Given the description of an element on the screen output the (x, y) to click on. 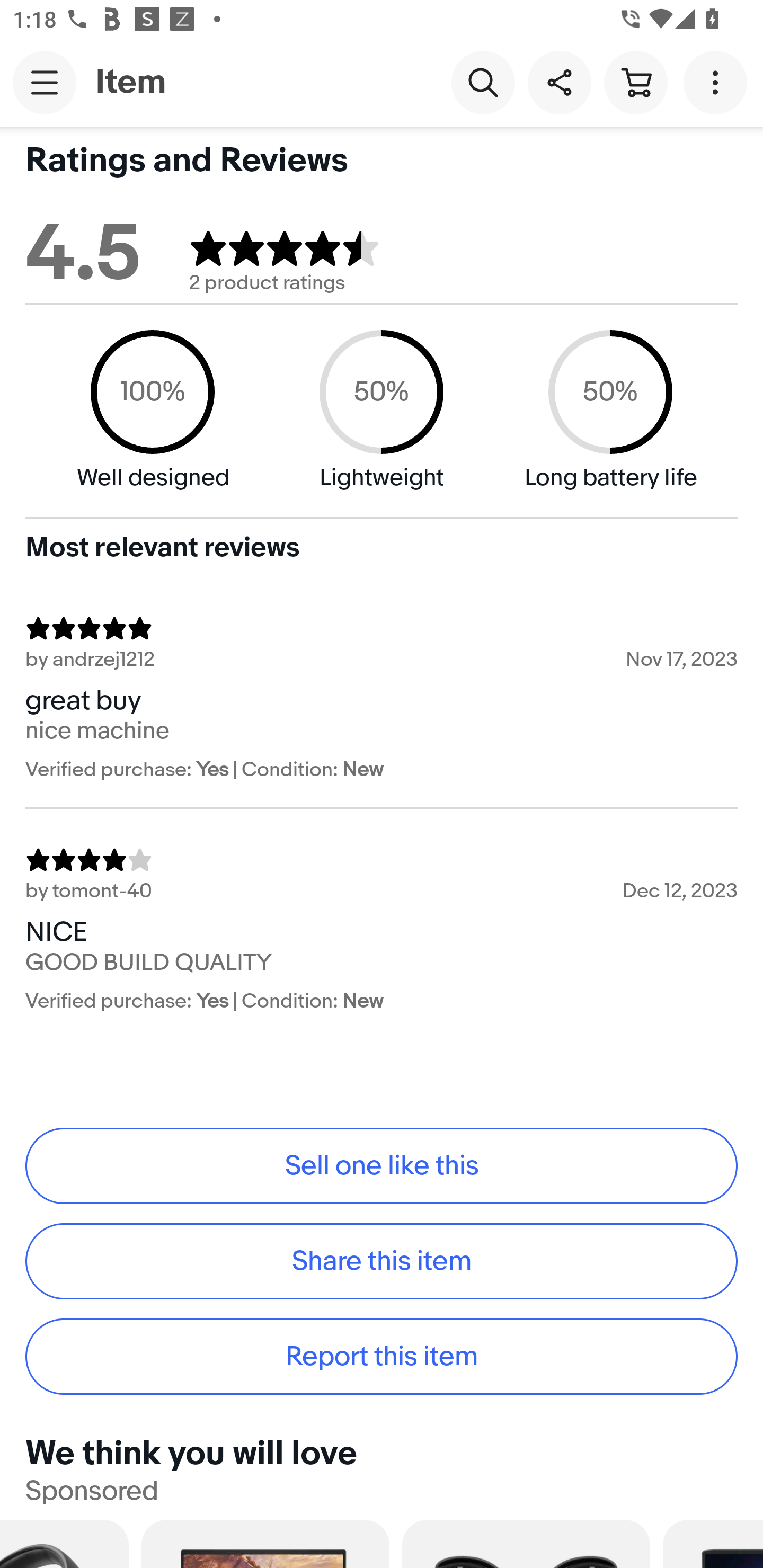
Main navigation, open (44, 82)
Search (482, 81)
Share this item (559, 81)
Cart button shopping cart (635, 81)
More options (718, 81)
Sell one like this (381, 1165)
Share this item (381, 1261)
Report this item (381, 1356)
